Given the description of an element on the screen output the (x, y) to click on. 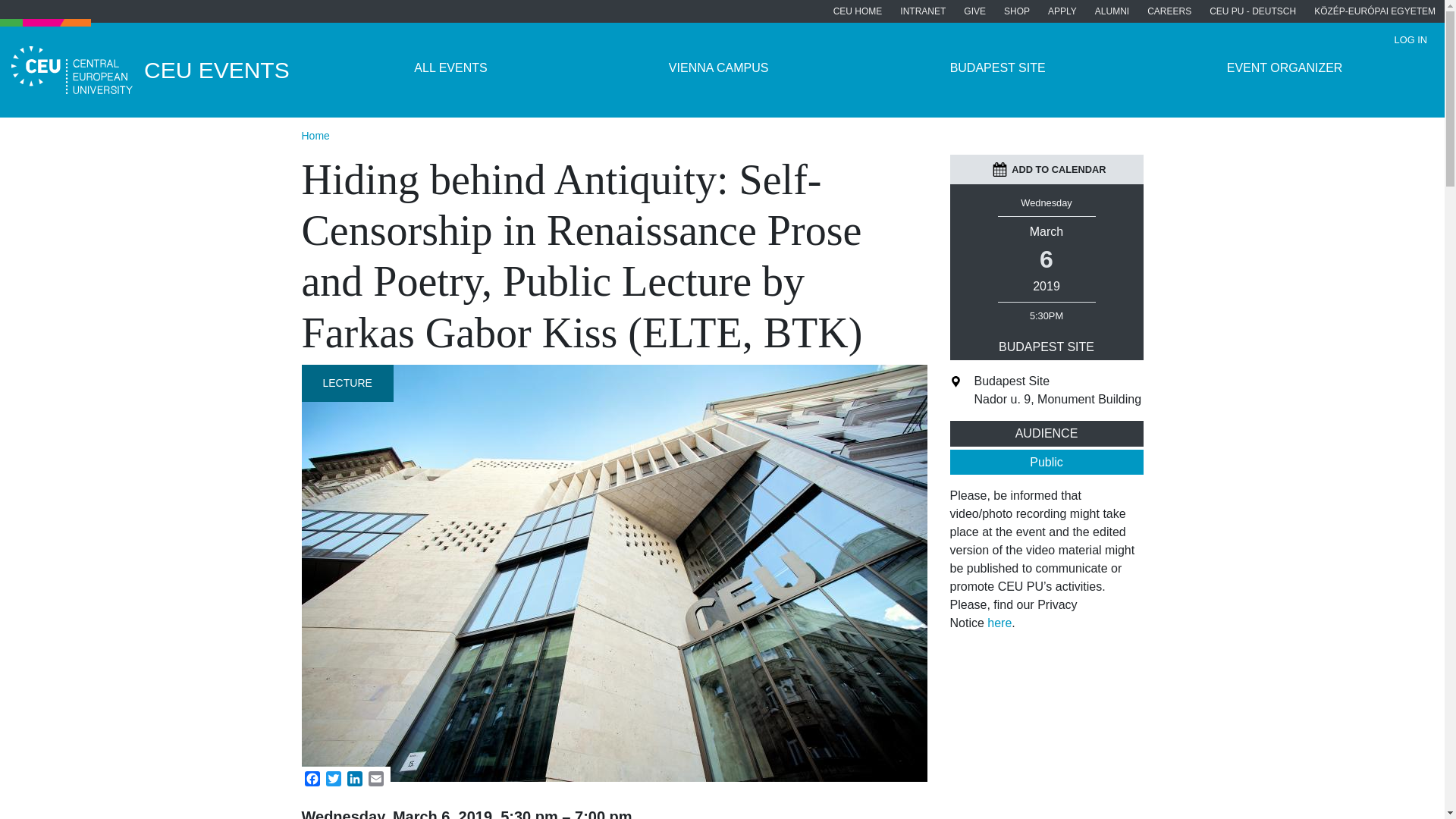
VIENNA CAMPUS (718, 68)
CEU EVENTS (162, 69)
ALUMNI (1112, 11)
BUDAPEST SITE (997, 68)
ALL EVENTS (450, 68)
Email (376, 778)
Public (1045, 462)
Facebook (312, 778)
EVENT ORGANIZER (1283, 68)
